Given the description of an element on the screen output the (x, y) to click on. 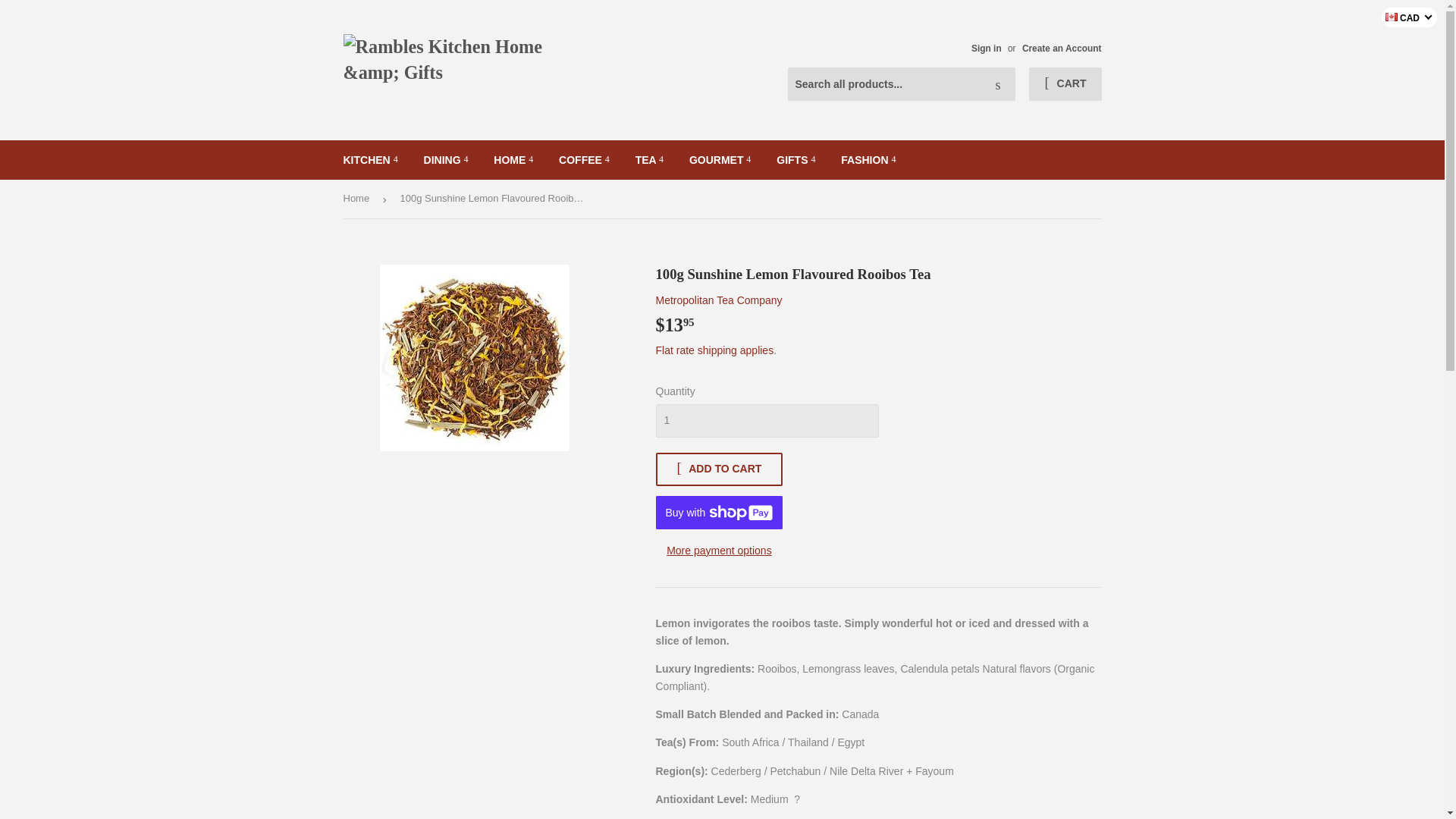
Create an Account (1062, 48)
Metropolitan Tea Company (718, 300)
Search (997, 84)
1 (766, 420)
CART (1064, 83)
Sign in (986, 48)
